Given the description of an element on the screen output the (x, y) to click on. 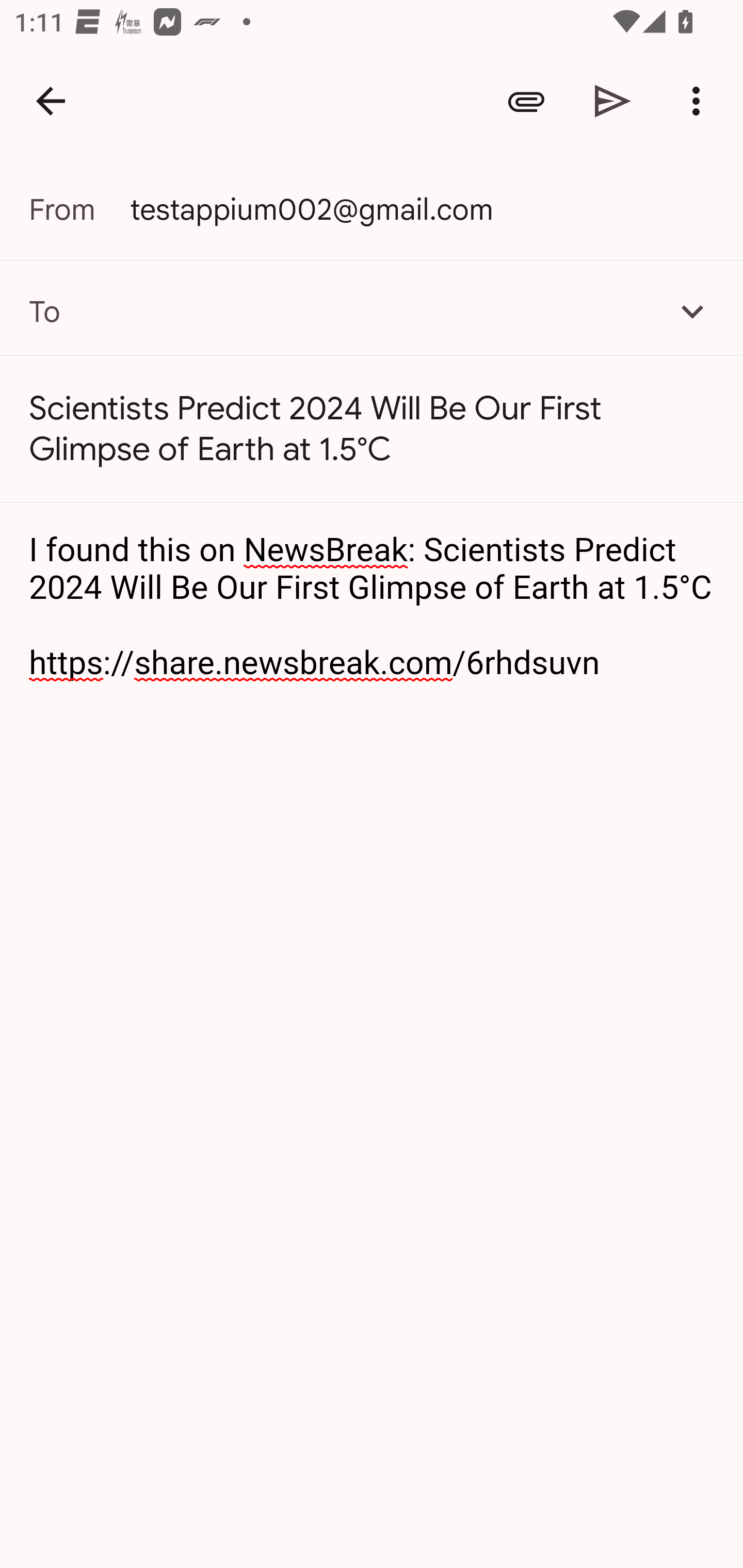
Navigate up (50, 101)
Attach file (525, 101)
Send (612, 101)
More options (699, 101)
From (79, 209)
Add Cc/Bcc (692, 311)
